Given the description of an element on the screen output the (x, y) to click on. 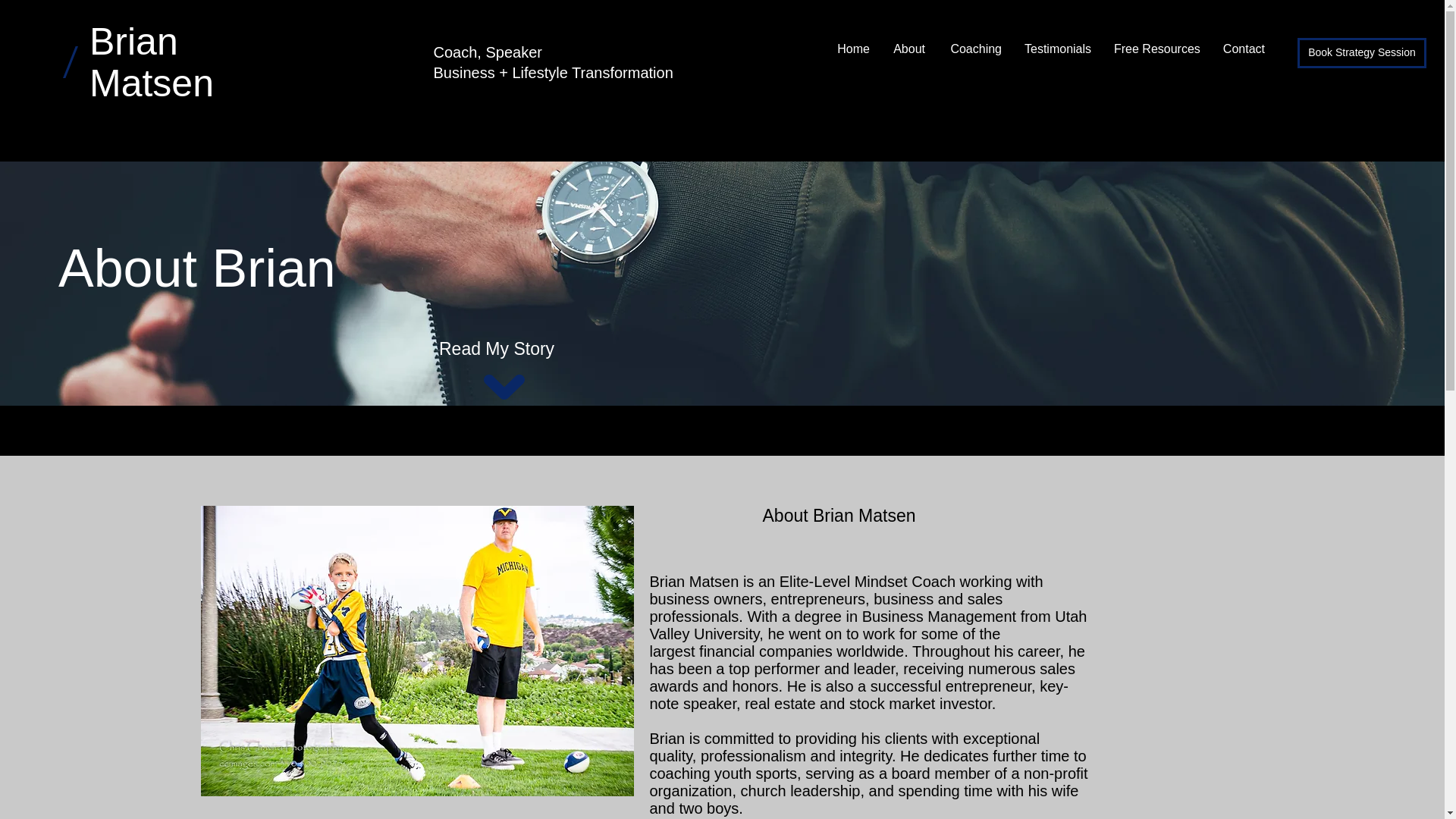
Coaching (974, 48)
Free Resources (1156, 48)
About (908, 48)
Home (852, 48)
Testimonials (1057, 48)
Book Strategy Session (1361, 52)
Contact (1243, 48)
Brian (132, 41)
